Given the description of an element on the screen output the (x, y) to click on. 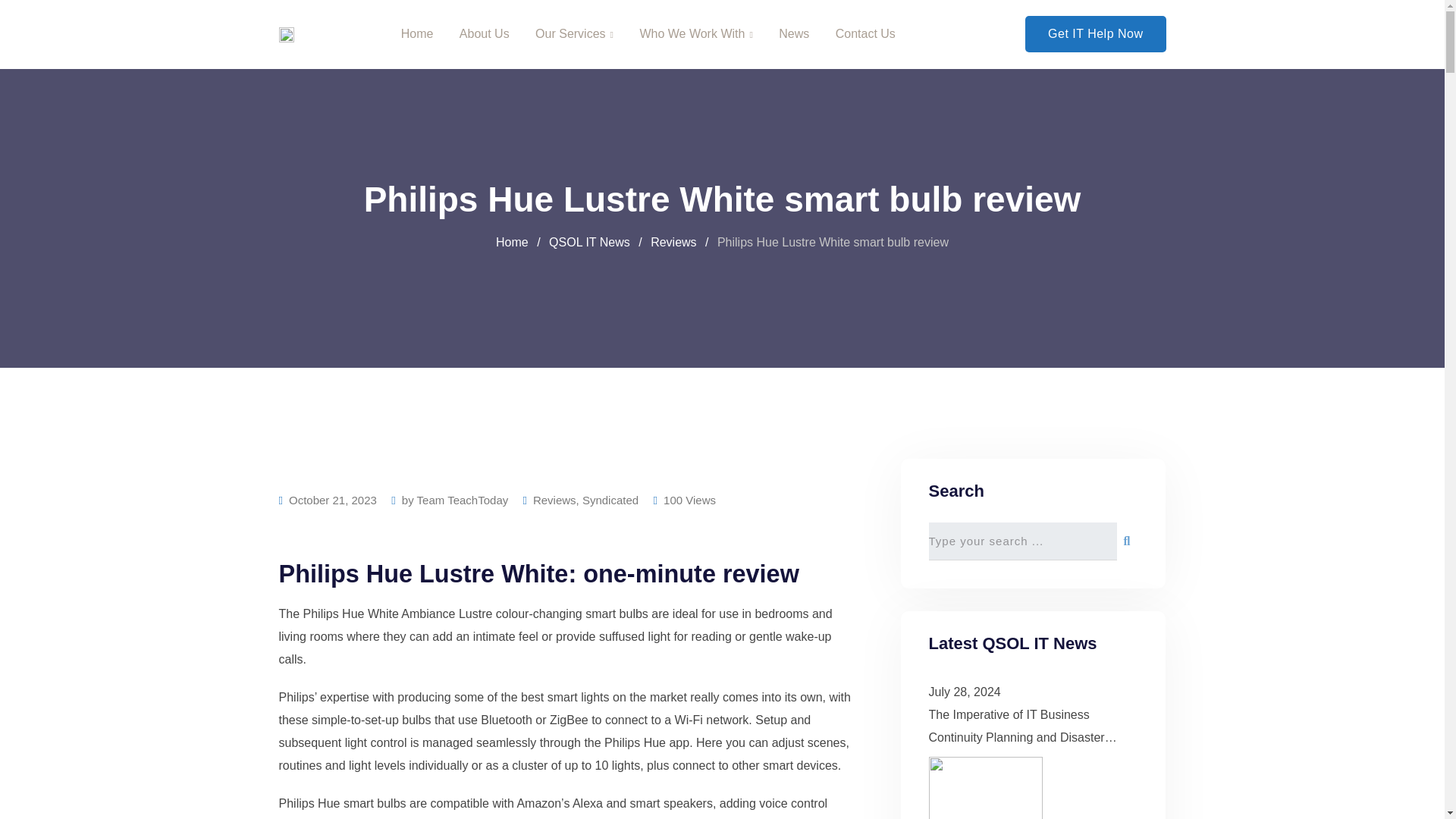
Get IT Help Now (1095, 33)
Team TeachToday (462, 499)
Who We Work With (695, 34)
Our Services (573, 34)
QSOL IT News (589, 241)
Reviews (672, 241)
Home (512, 241)
Posts by Team TeachToday (462, 499)
Go to the Reviews category archives. (672, 241)
Go to QSOL IT News. (589, 241)
